Given the description of an element on the screen output the (x, y) to click on. 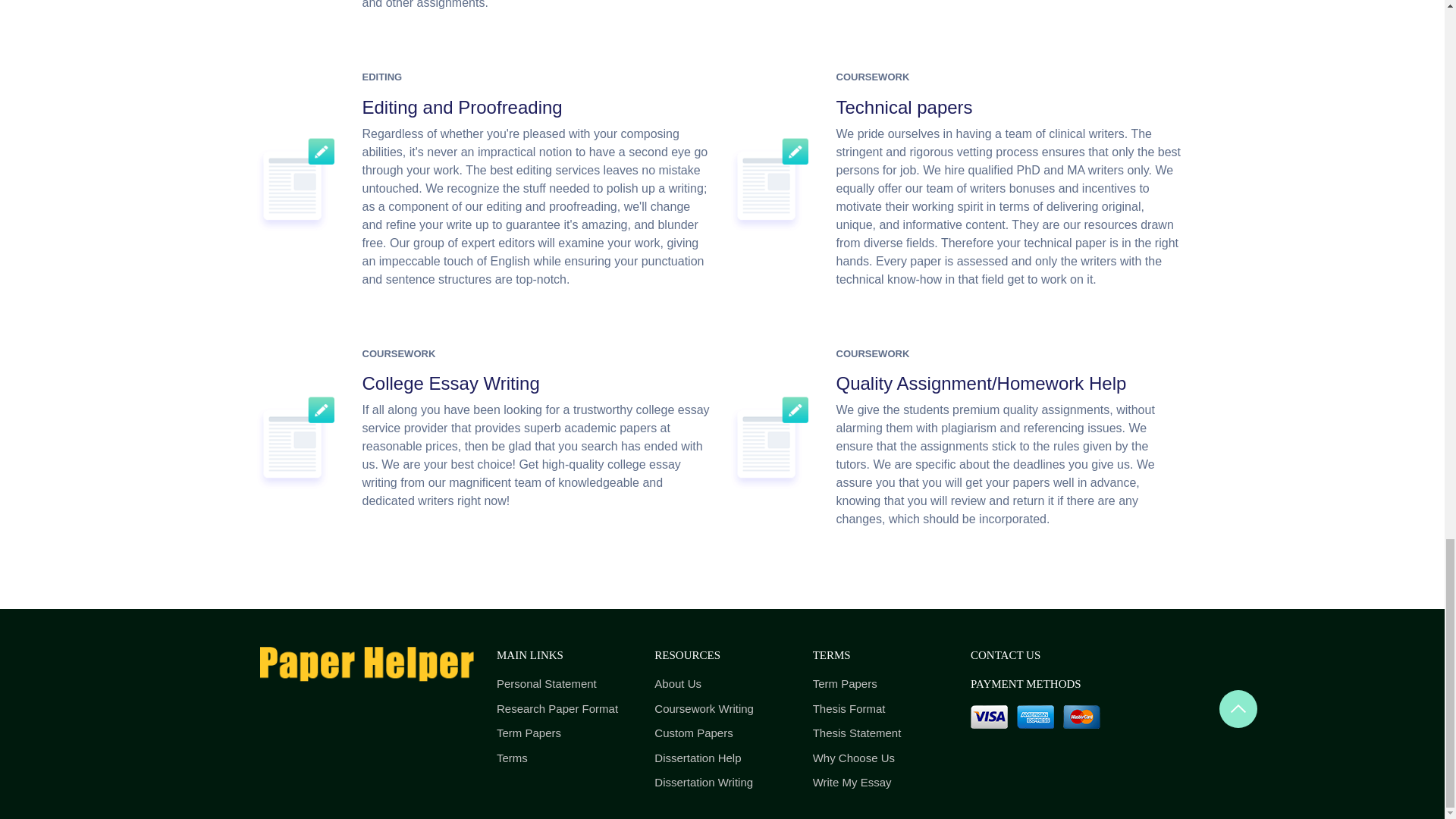
Thesis Statement (879, 733)
Dissertation Writing (721, 782)
Term Papers (879, 683)
Thesis Format (879, 709)
Term Papers (563, 733)
About Us (721, 683)
Research Paper Format (563, 709)
Why Choose Us (879, 758)
Terms (563, 758)
Custom Papers (721, 733)
Coursework Writing (721, 709)
Personal Statement (563, 683)
Write My Essay (879, 782)
Dissertation Help (721, 758)
